Given the description of an element on the screen output the (x, y) to click on. 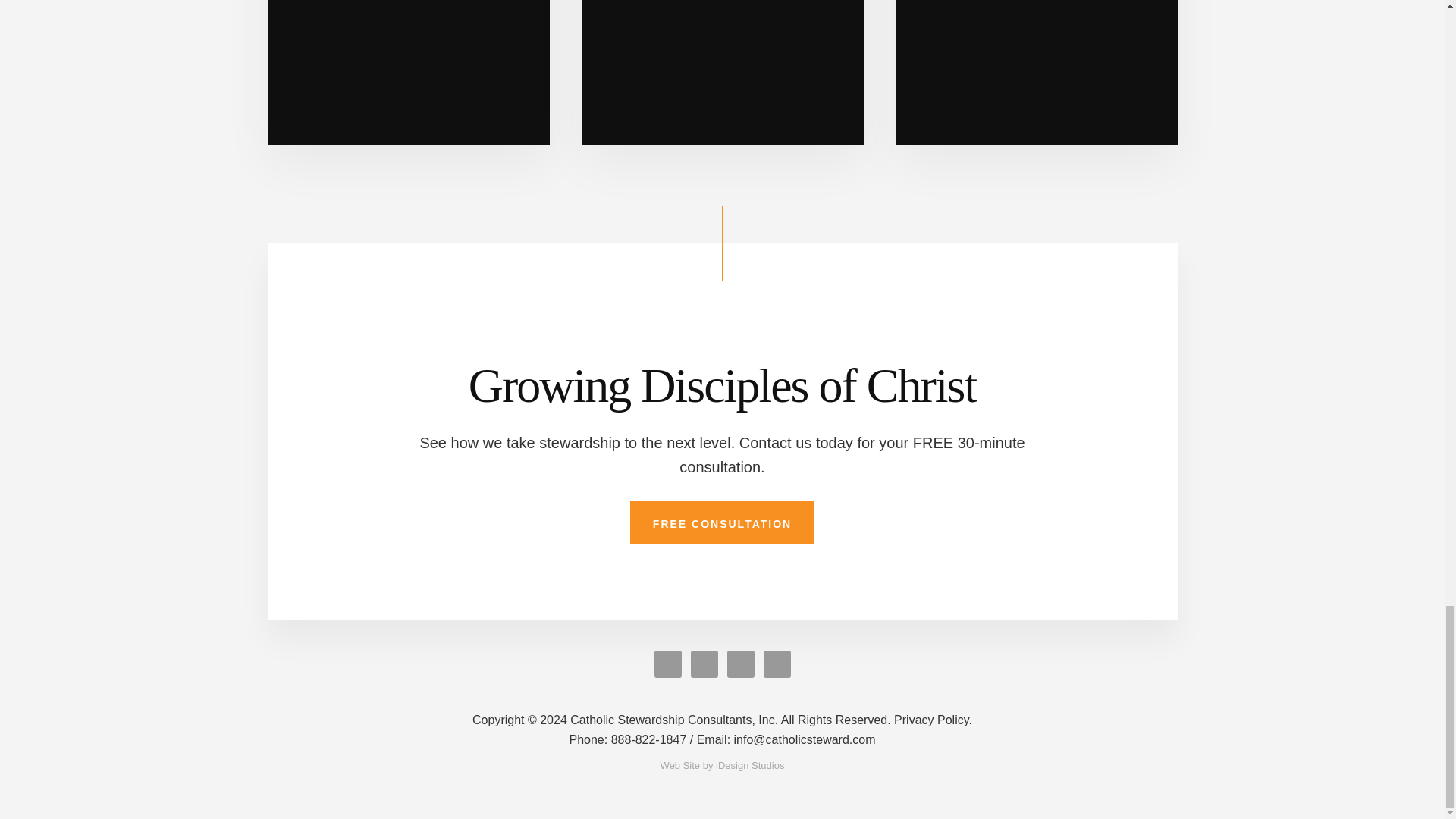
Privacy Policy (932, 719)
Catholic Stewardship Consultants, Inc. (681, 719)
Stewardship Services (721, 72)
Email (786, 739)
FREE CONSULTATION (721, 523)
About Us (407, 72)
FAQ (1035, 72)
